Given the description of an element on the screen output the (x, y) to click on. 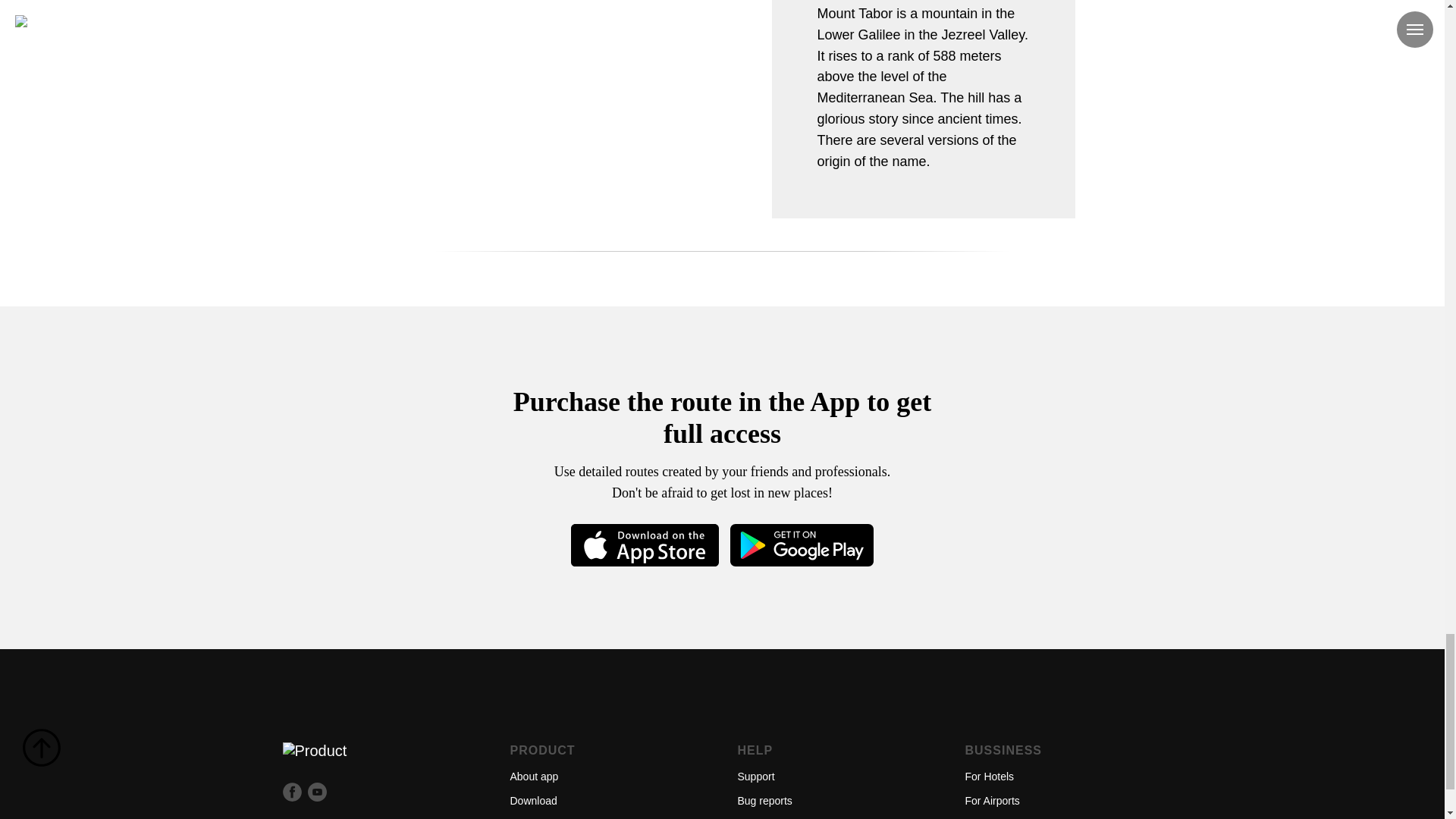
Youtube (316, 791)
Youtube (316, 797)
Facebook (291, 791)
Download (532, 800)
Facebook (291, 797)
About app (533, 776)
